Given the description of an element on the screen output the (x, y) to click on. 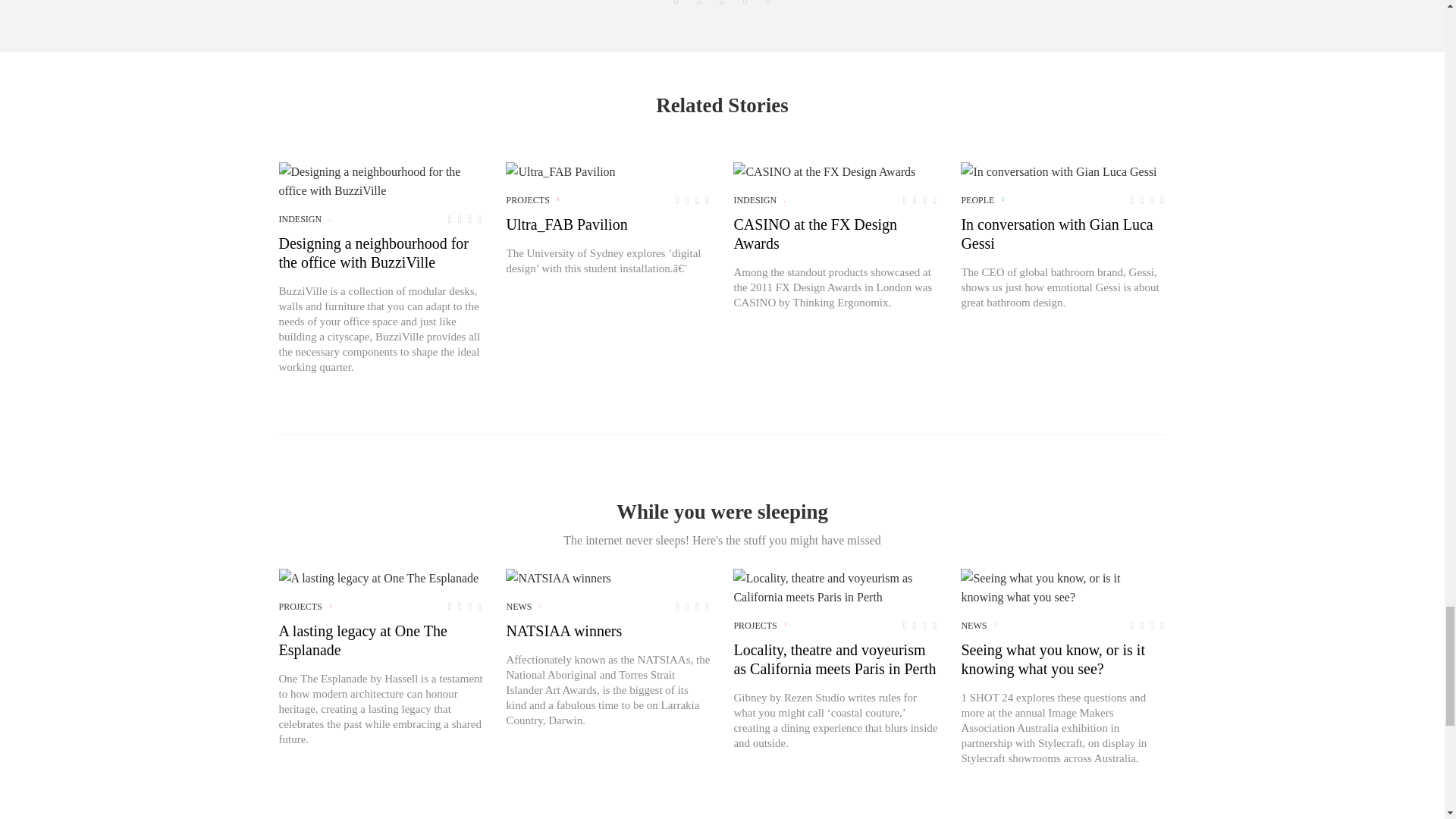
Designing a neighbourhood for the office with BuzziVille (381, 180)
A lasting legacy at One The Esplanade (379, 578)
CASINO at the FX Design Awards (824, 171)
In conversation with Gian Luca Gessi (1058, 171)
